Given the description of an element on the screen output the (x, y) to click on. 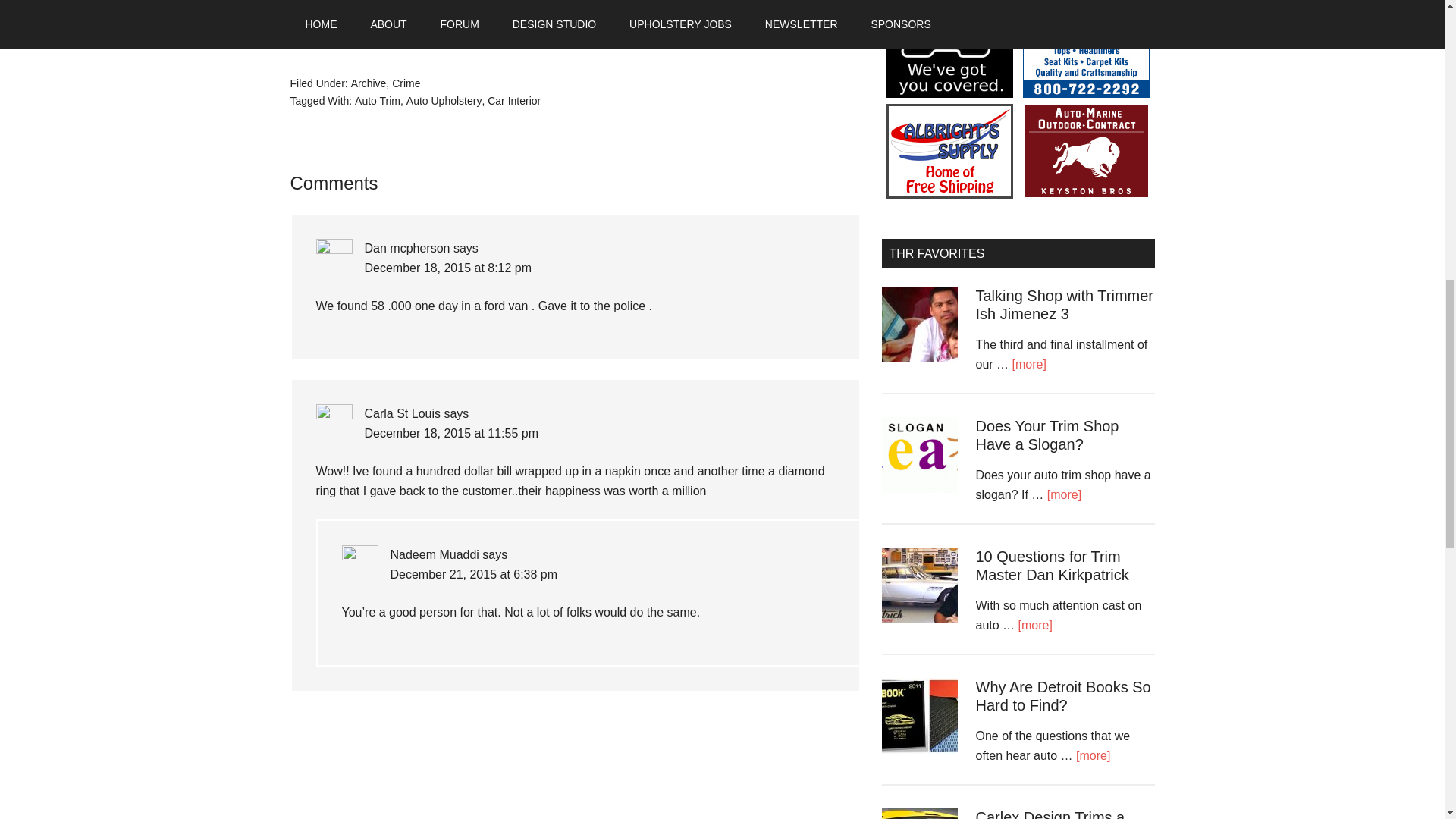
December 18, 2015 at 11:55 pm (450, 432)
Auto Trim (377, 100)
Car Interior (513, 100)
Archive (368, 82)
Talking Shop with Trimmer Ish Jimenez 3 (1064, 304)
Auto Upholstery (443, 100)
December 18, 2015 at 8:12 pm (447, 267)
Dan mcpherson (406, 247)
Nadeem Muaddi (434, 554)
December 21, 2015 at 6:38 pm (473, 574)
Crime (405, 82)
